Given the description of an element on the screen output the (x, y) to click on. 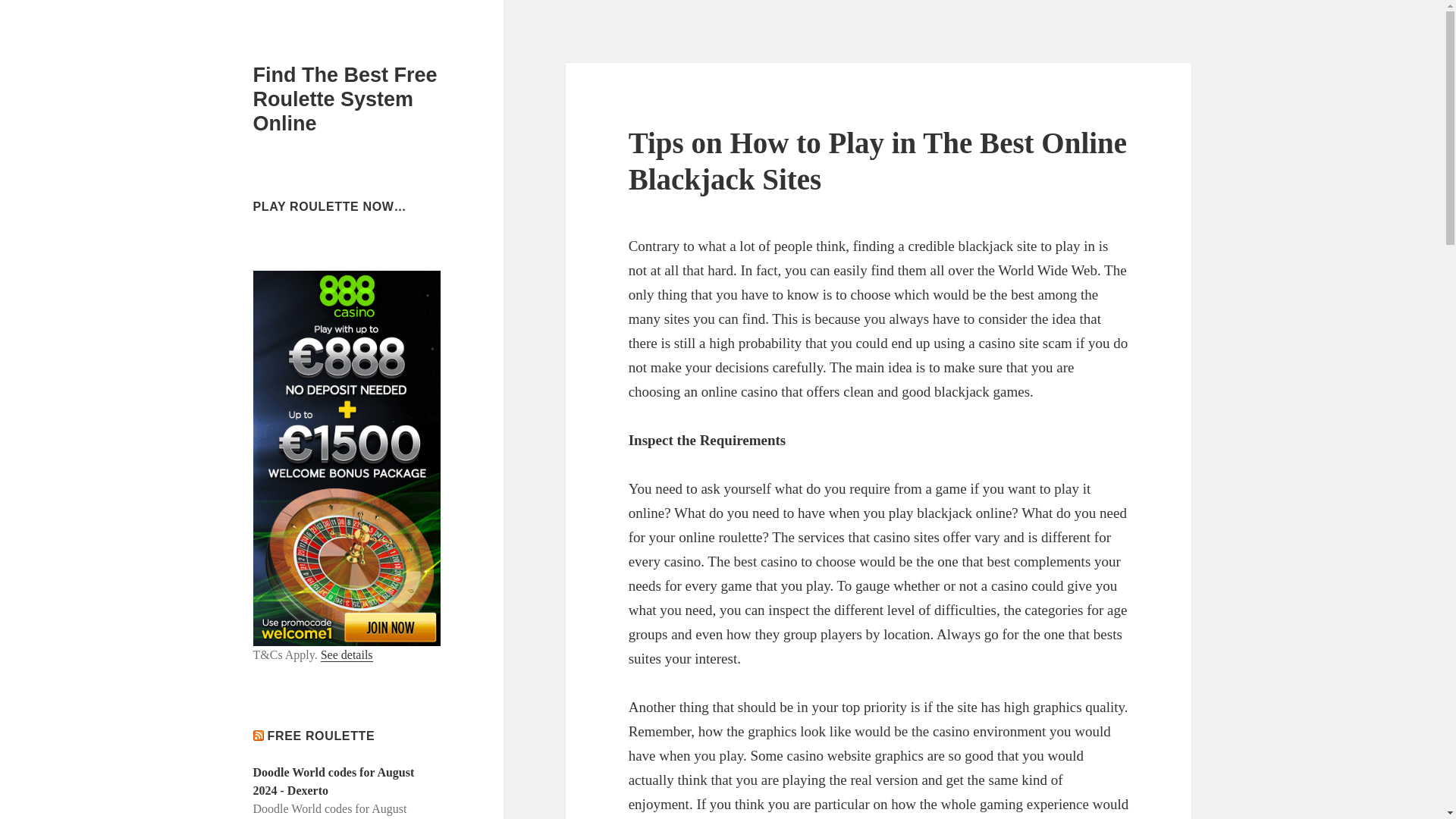
See details (346, 654)
Doodle World codes for August 2024 - Dexerto (333, 780)
FREE ROULETTE (321, 735)
Find The Best Free Roulette System Online (345, 99)
